Given the description of an element on the screen output the (x, y) to click on. 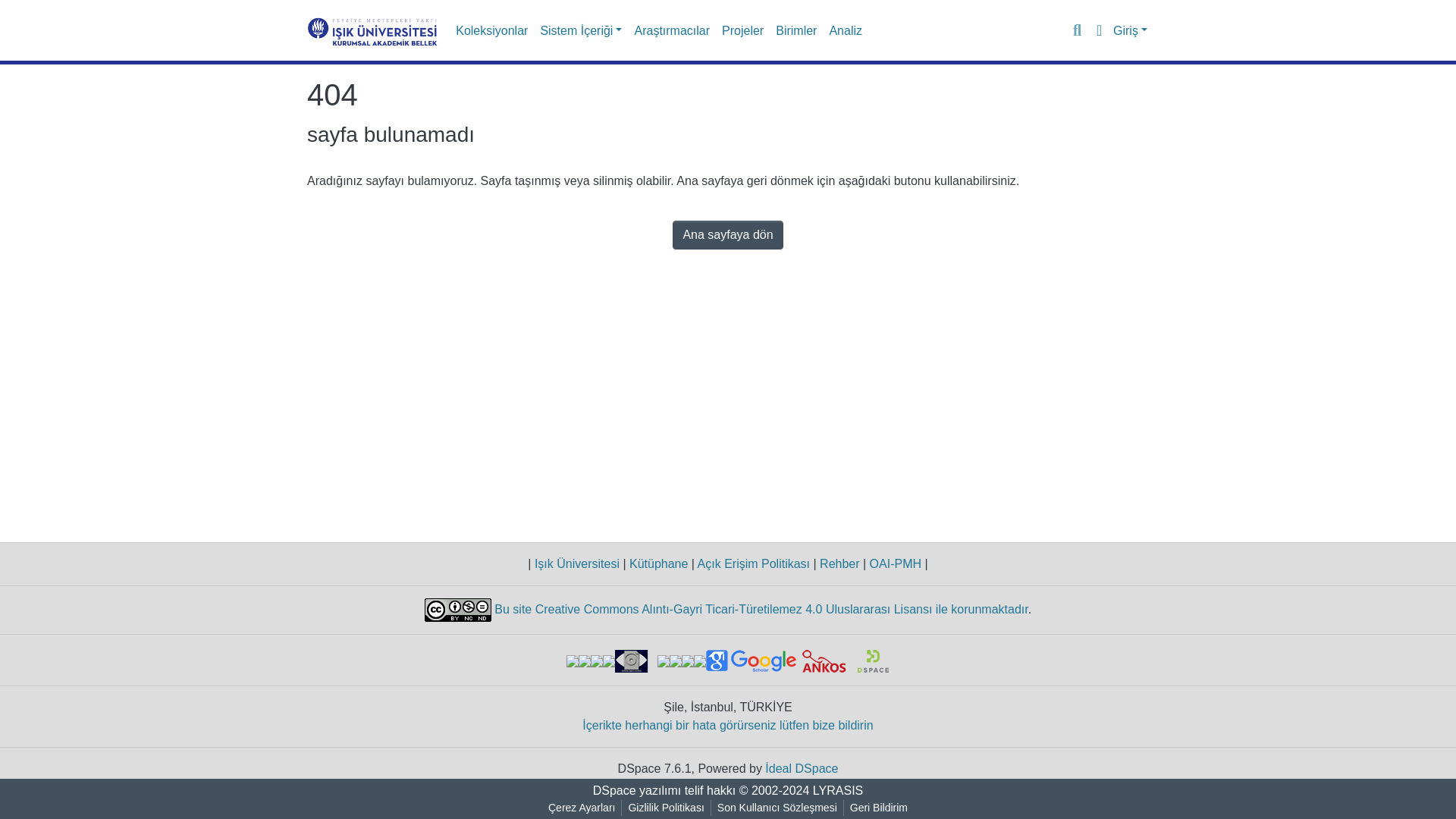
Ara (1076, 30)
Rehber (839, 563)
Projeler (743, 30)
Koleksiyonlar (491, 30)
Analiz (844, 30)
Birimler (796, 30)
OAI-PMH (895, 563)
Koleksiyonlar (491, 30)
